Given the description of an element on the screen output the (x, y) to click on. 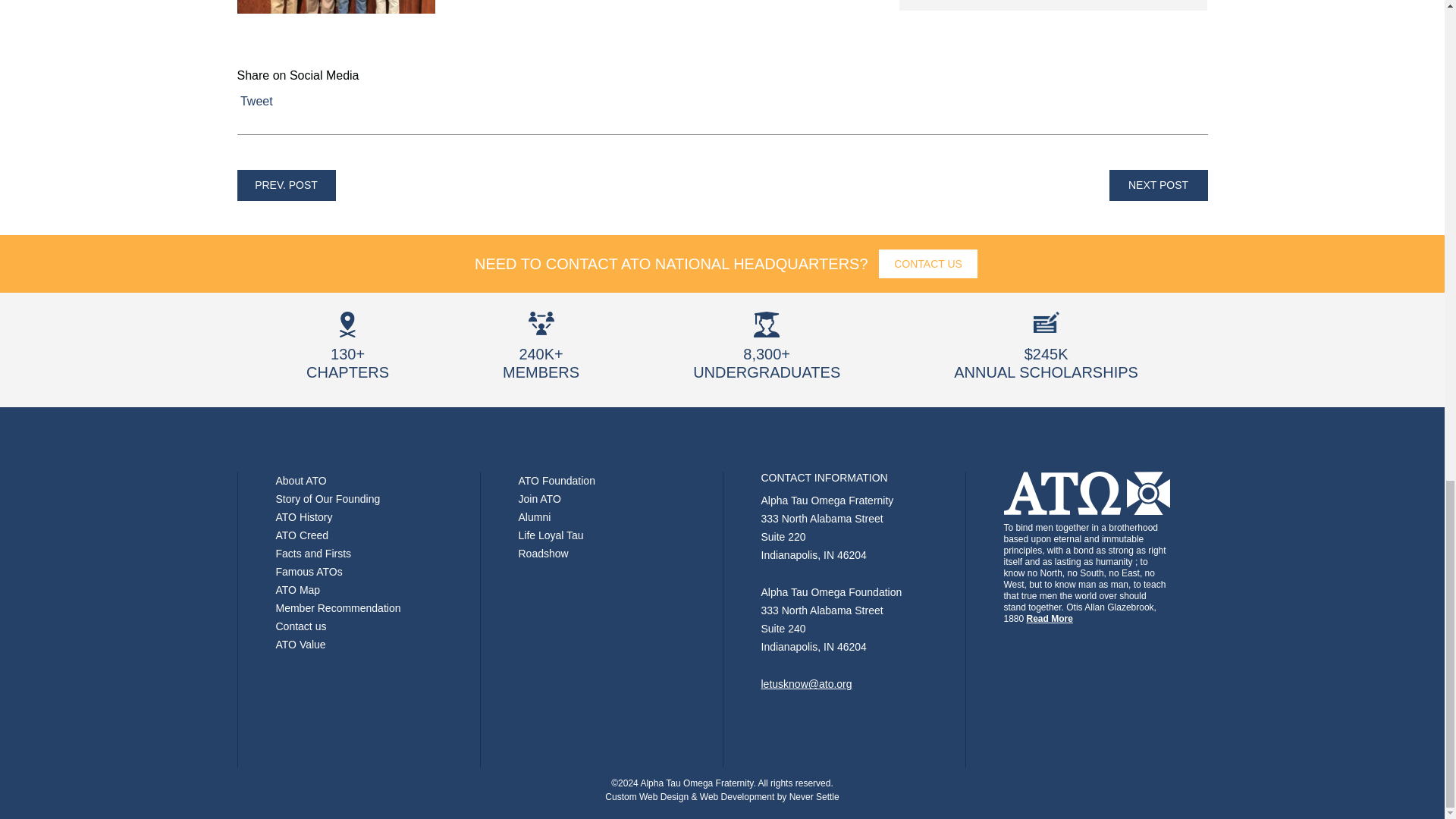
NEXT POST (1157, 184)
Contact us (301, 625)
ATO Creed (302, 535)
Tweet (256, 101)
ATO Map (298, 589)
About ATO (301, 480)
CONTACT US (927, 263)
Join ATO (539, 499)
Famous ATOs (309, 571)
Story of Our Founding (328, 499)
PREV. POST (284, 184)
ATO Value (301, 644)
Facts and Firsts (314, 553)
ATO History (304, 517)
ATO Foundation (556, 480)
